Given the description of an element on the screen output the (x, y) to click on. 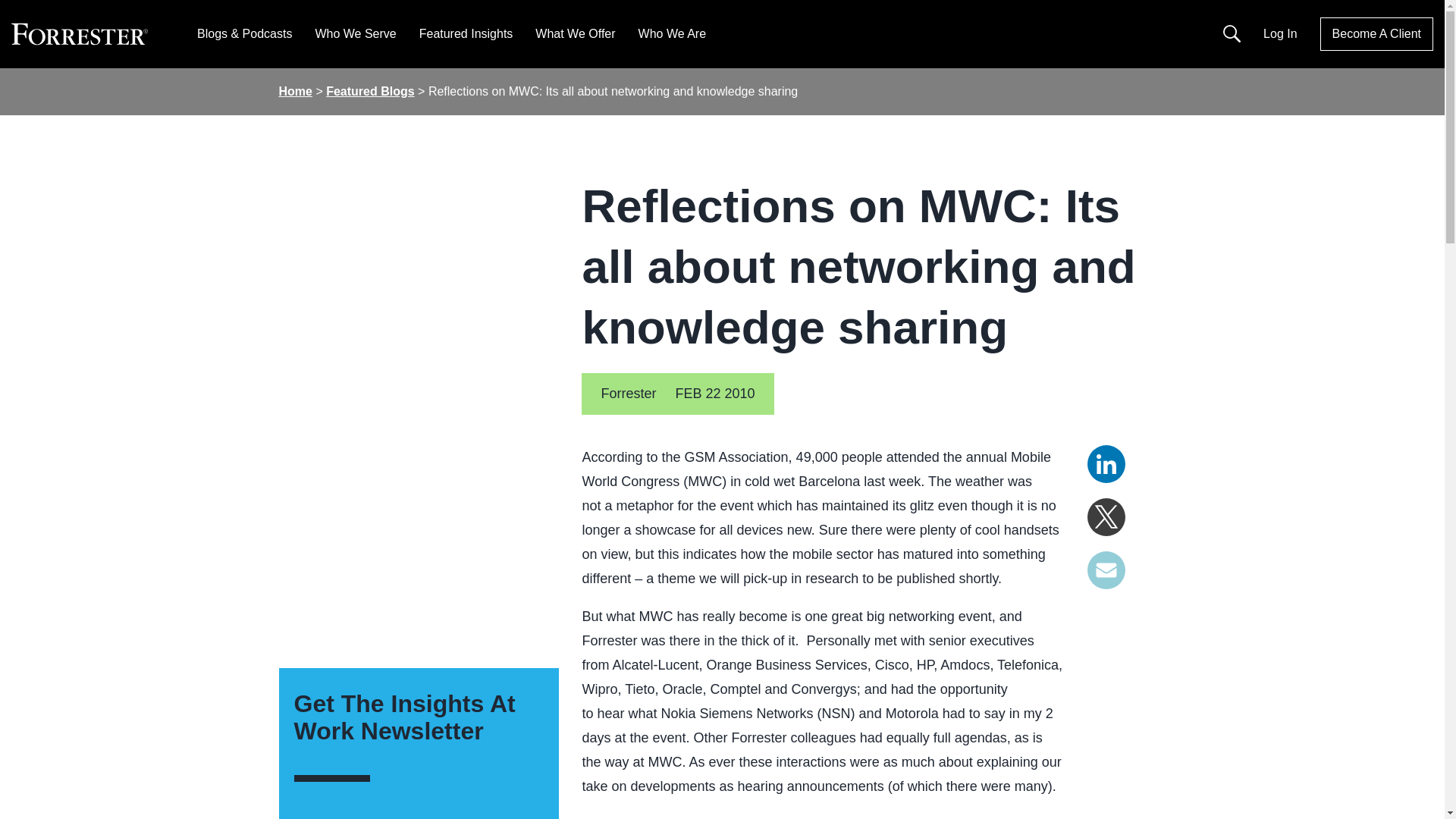
Featured Insights (466, 33)
What We Offer (574, 33)
Who We Serve (355, 33)
